Given the description of an element on the screen output the (x, y) to click on. 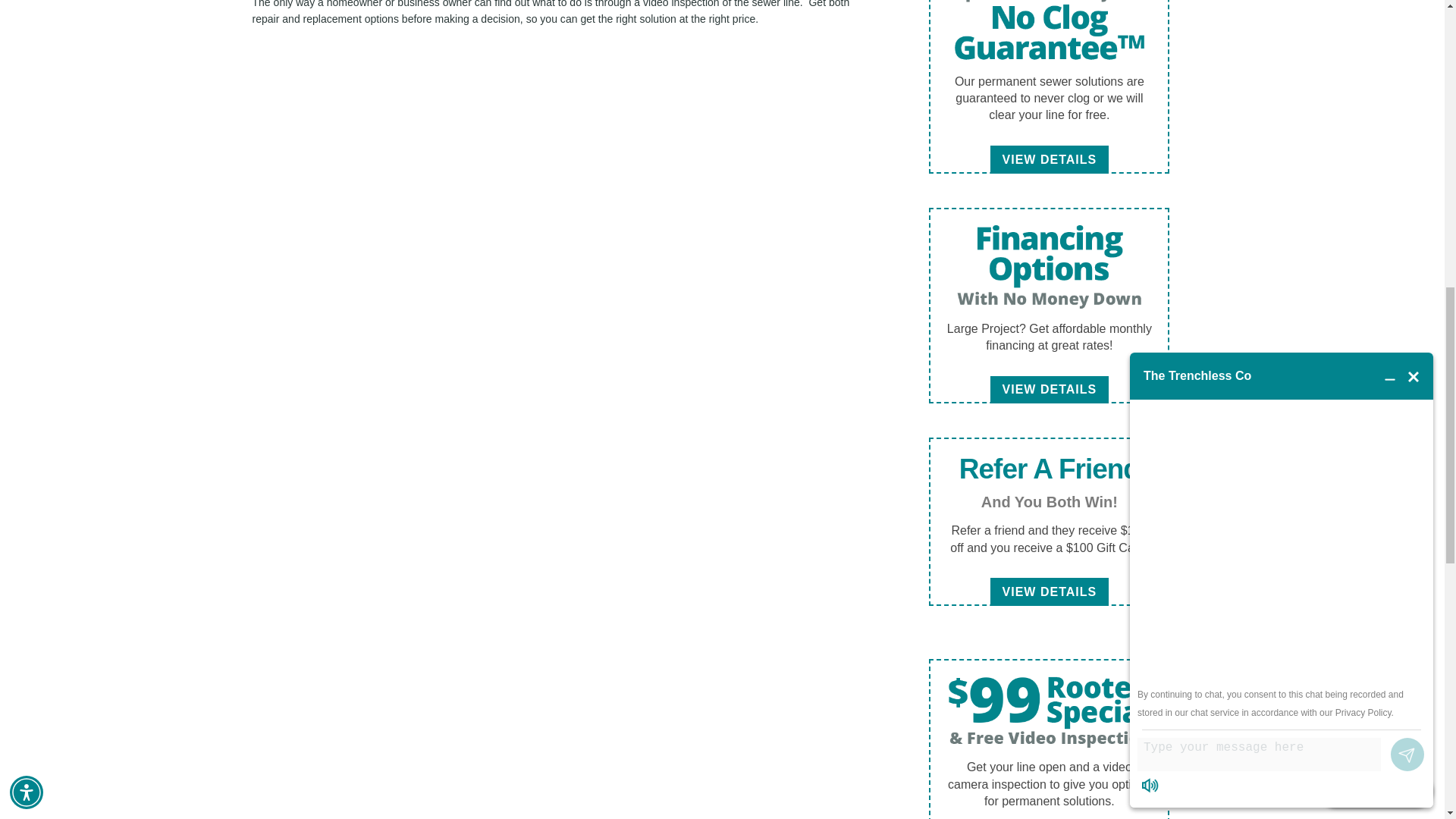
rooter-special (1048, 712)
rooter-special (1048, 33)
rooter-special (1048, 267)
